Given the description of an element on the screen output the (x, y) to click on. 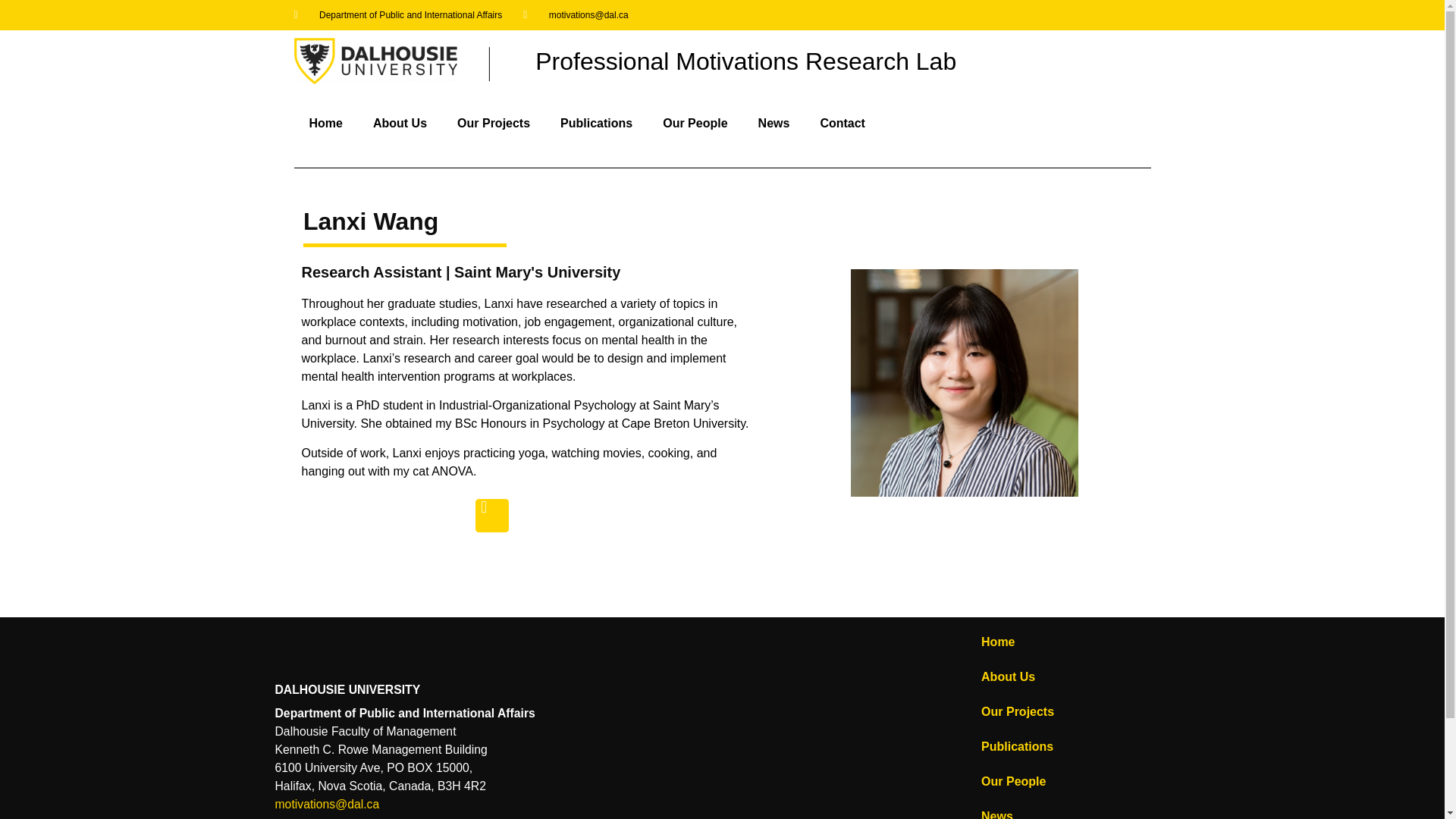
Home (1067, 642)
News (1067, 809)
News (773, 123)
Our Projects (1067, 711)
Our People (1067, 781)
Professional Motivations Research Lab (745, 61)
Home (326, 123)
Our Projects (493, 123)
Department of Public and International Affairs (398, 15)
Our People (694, 123)
